Given the description of an element on the screen output the (x, y) to click on. 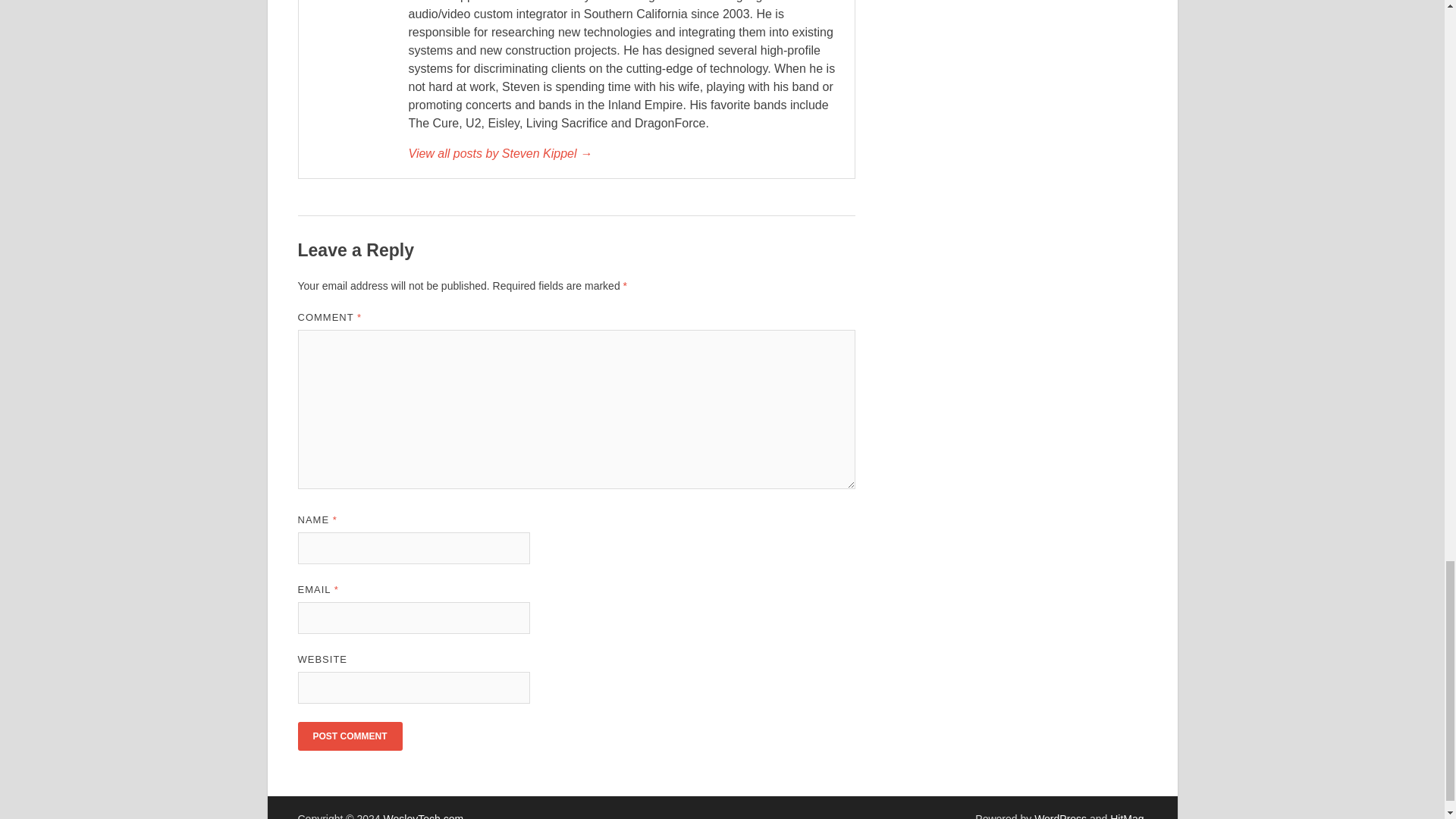
Post Comment (349, 736)
Steven Kippel (622, 153)
Post Comment (349, 736)
